Given the description of an element on the screen output the (x, y) to click on. 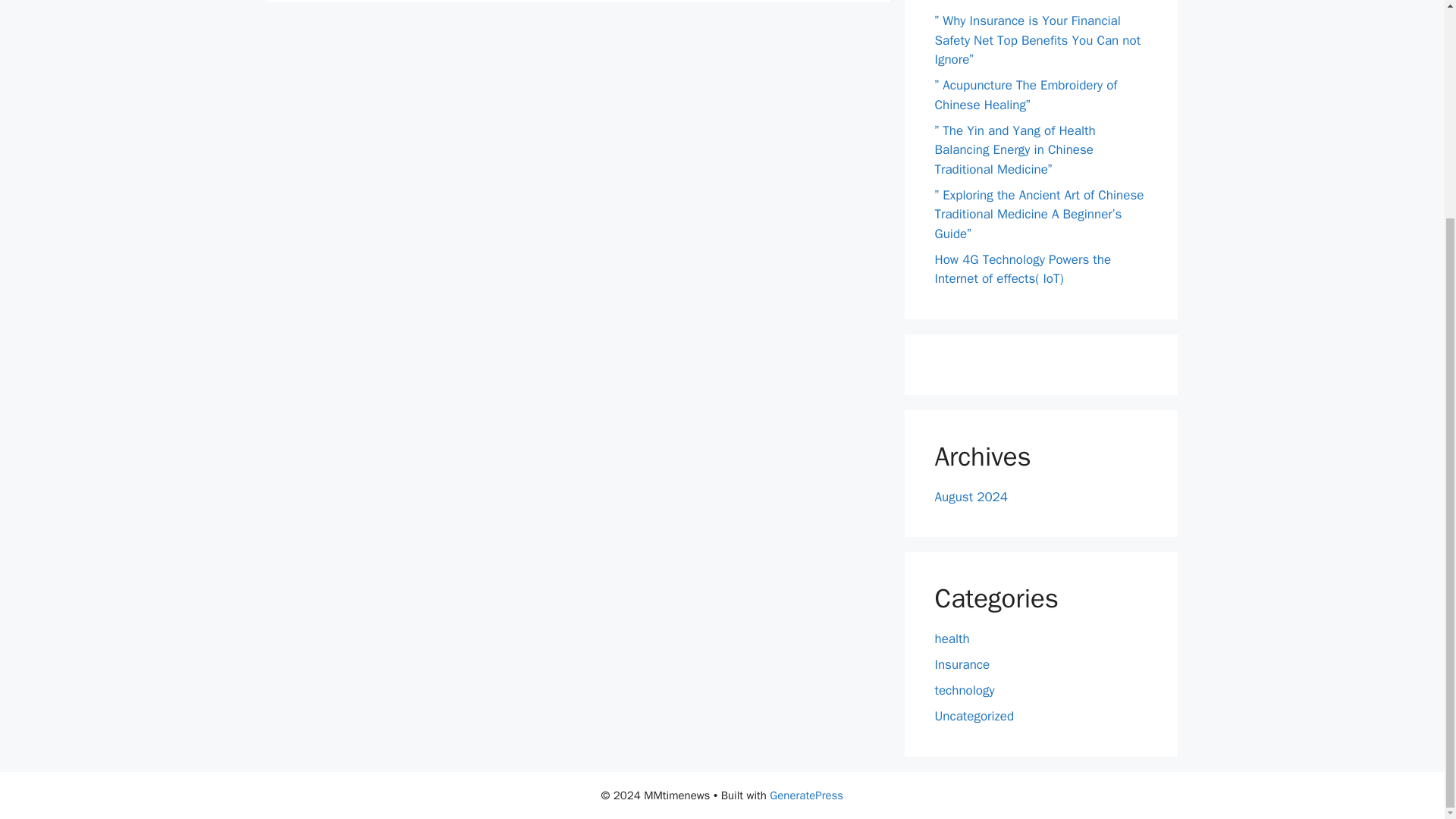
health (951, 638)
GeneratePress (806, 795)
Insurance (962, 664)
Uncategorized (973, 715)
technology (964, 690)
August 2024 (970, 496)
